Given the description of an element on the screen output the (x, y) to click on. 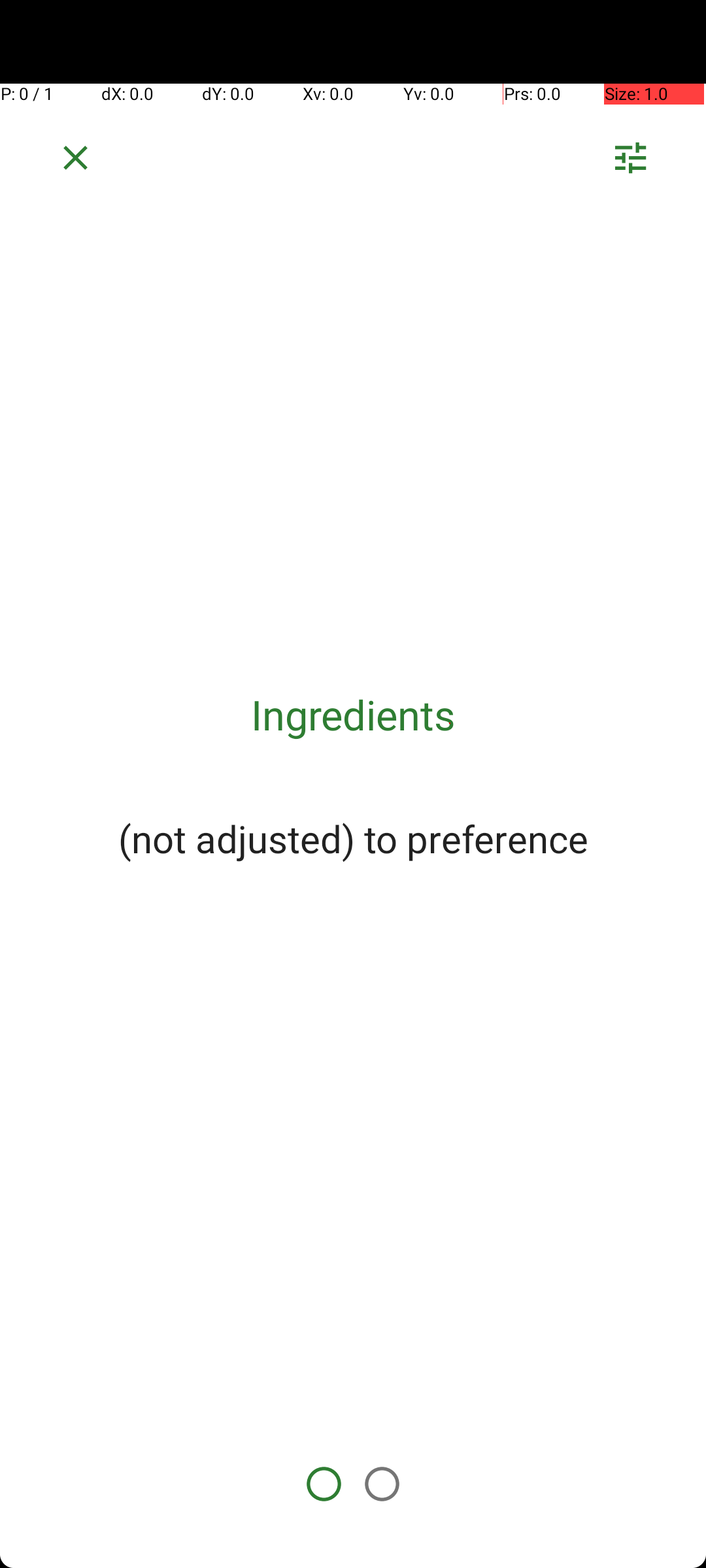
(not adjusted) to preference Element type: android.widget.TextView (353, 838)
